Given the description of an element on the screen output the (x, y) to click on. 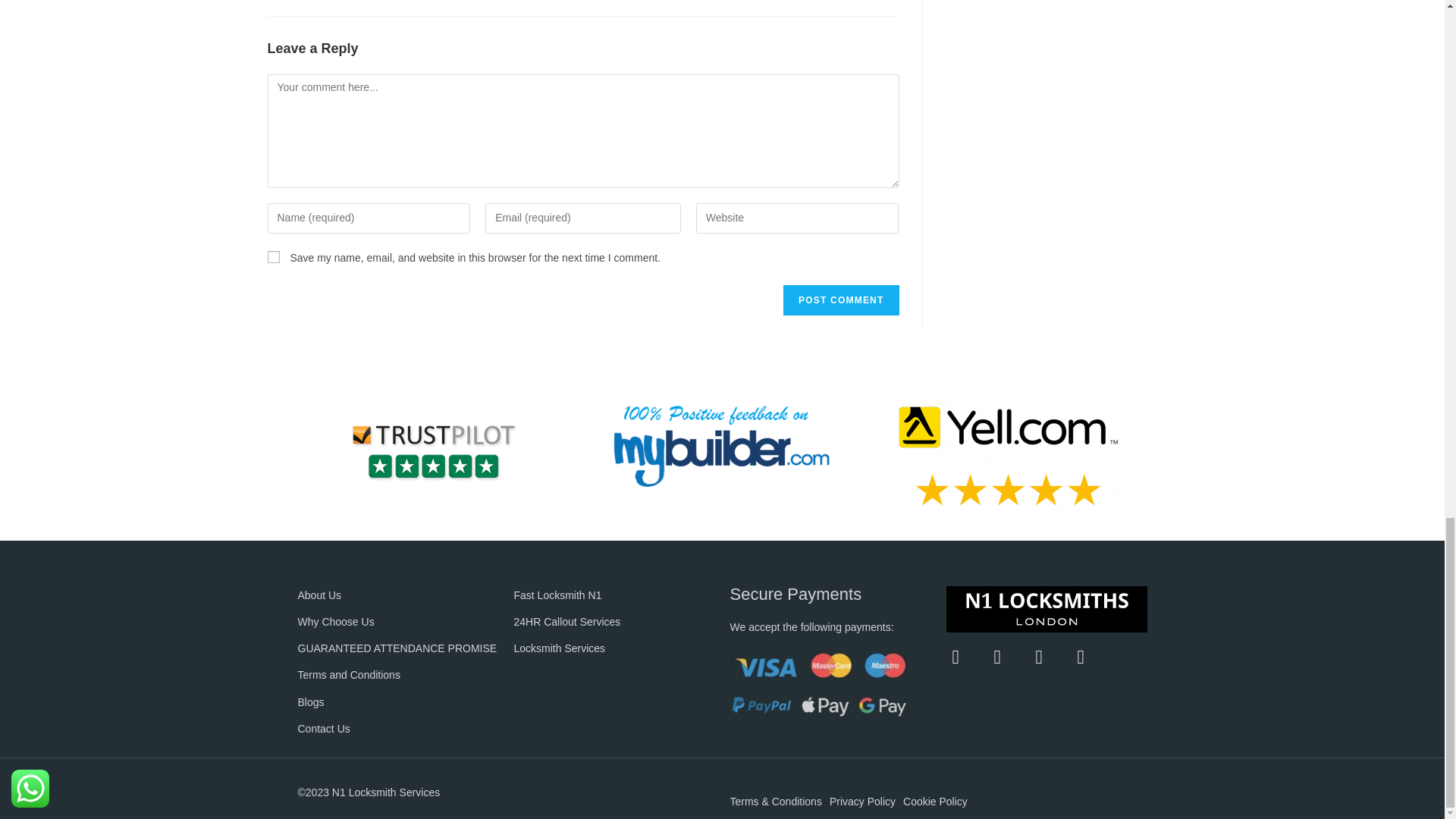
yes (272, 256)
Post Comment (840, 300)
